Given the description of an element on the screen output the (x, y) to click on. 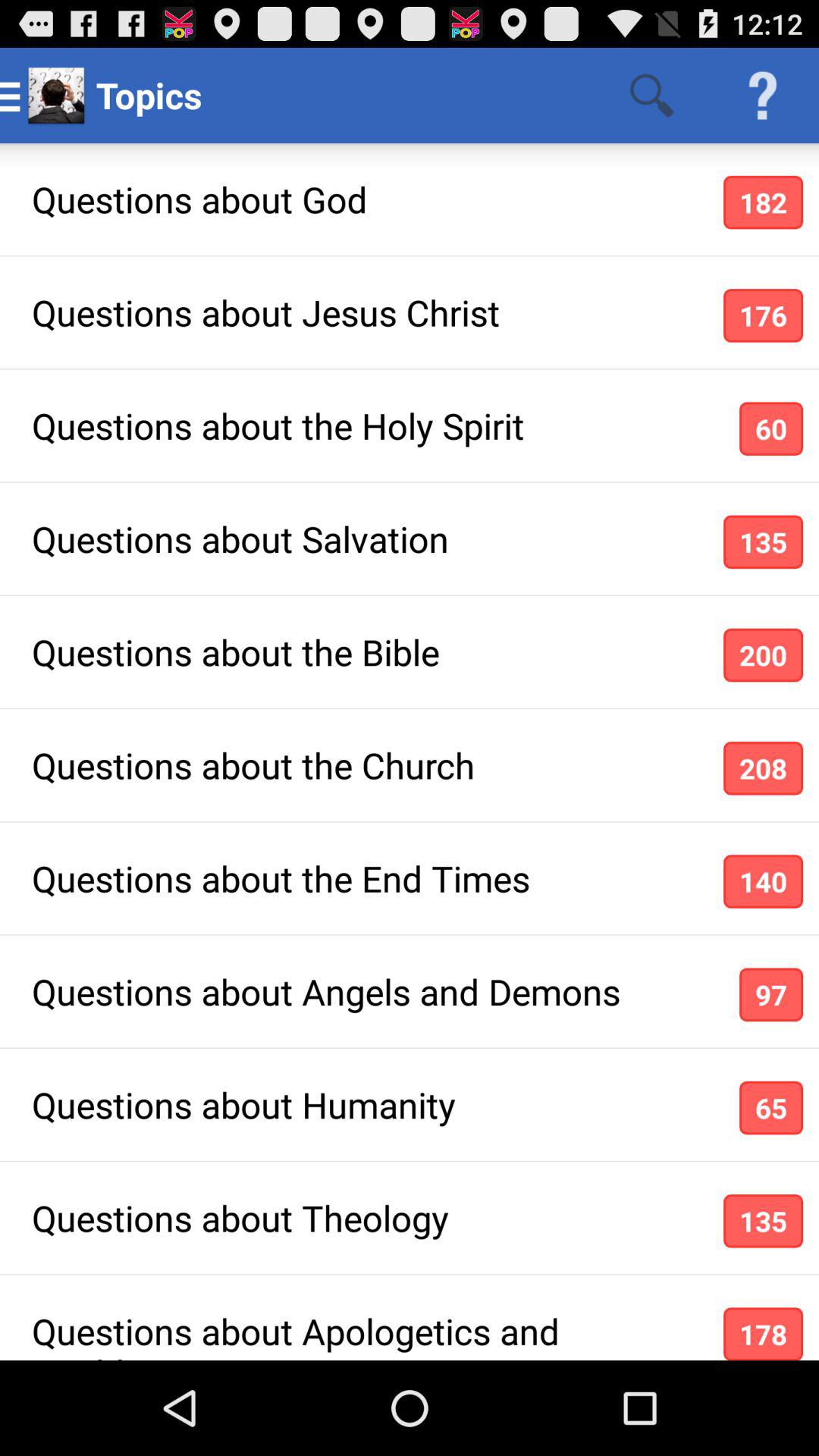
turn off the item next to the questions about the (763, 881)
